Given the description of an element on the screen output the (x, y) to click on. 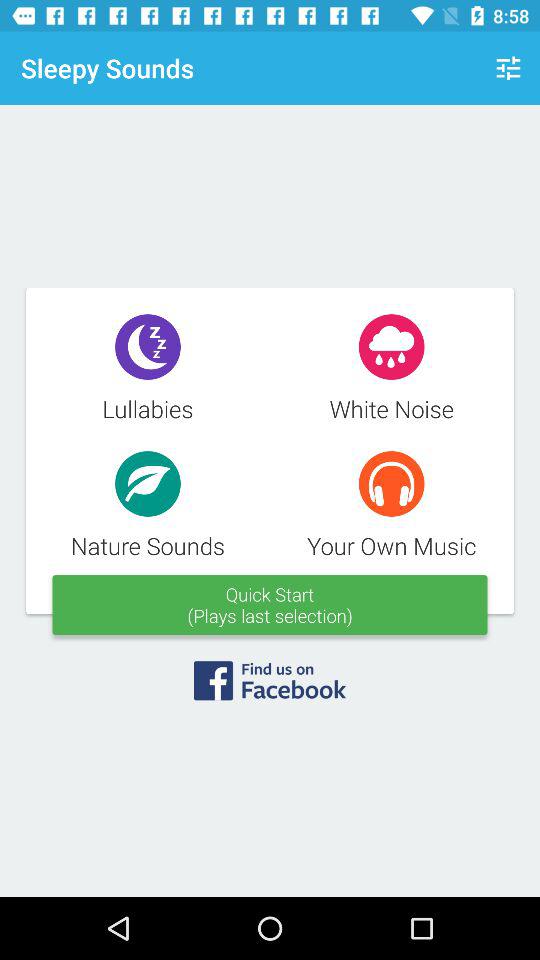
goes to apps facebook page (269, 687)
